Given the description of an element on the screen output the (x, y) to click on. 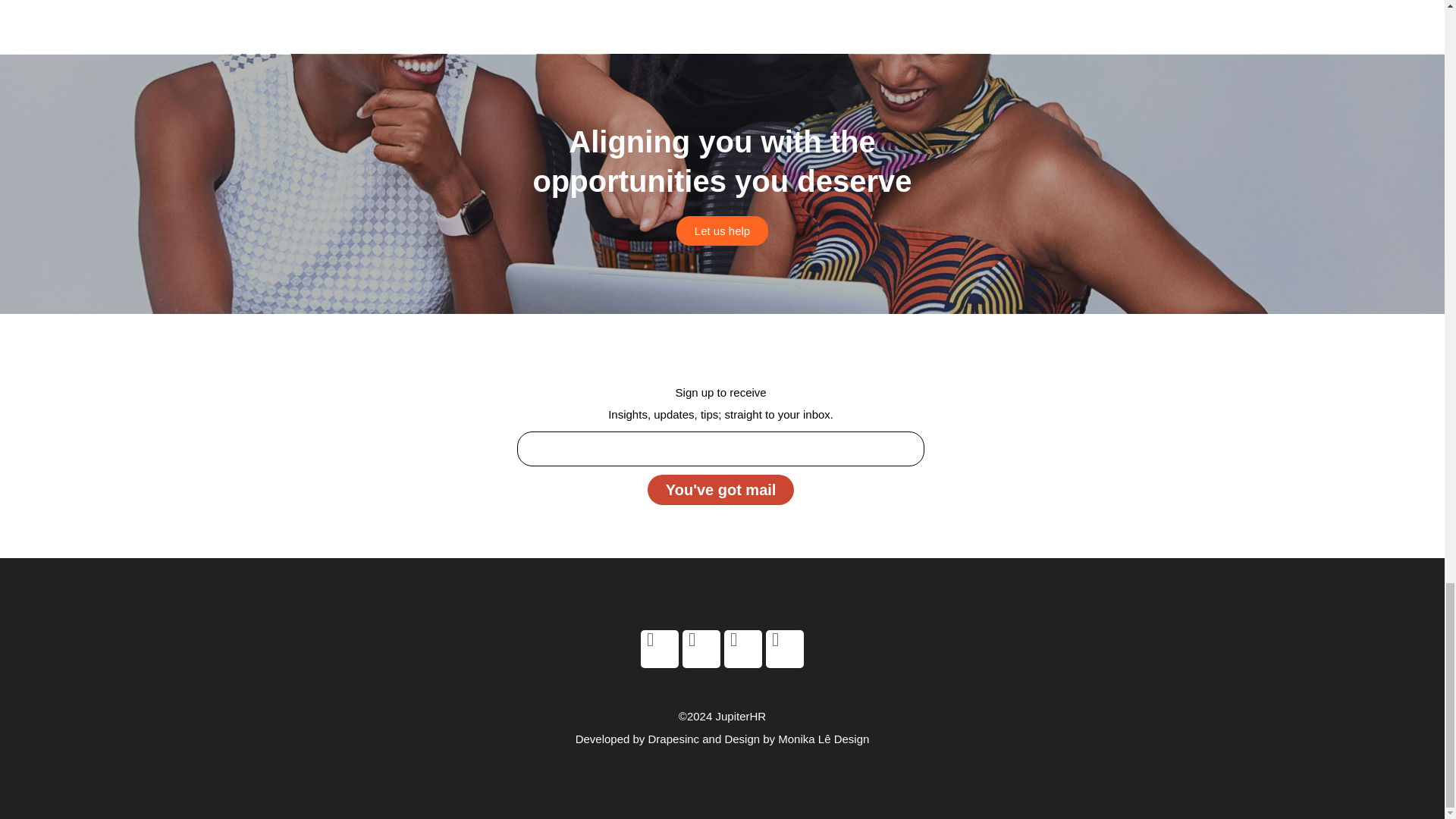
Twitter (659, 648)
You've got mail (720, 490)
Tiktok (784, 648)
Linkedin (701, 648)
Let us help (722, 230)
Instagram (742, 648)
